Given the description of an element on the screen output the (x, y) to click on. 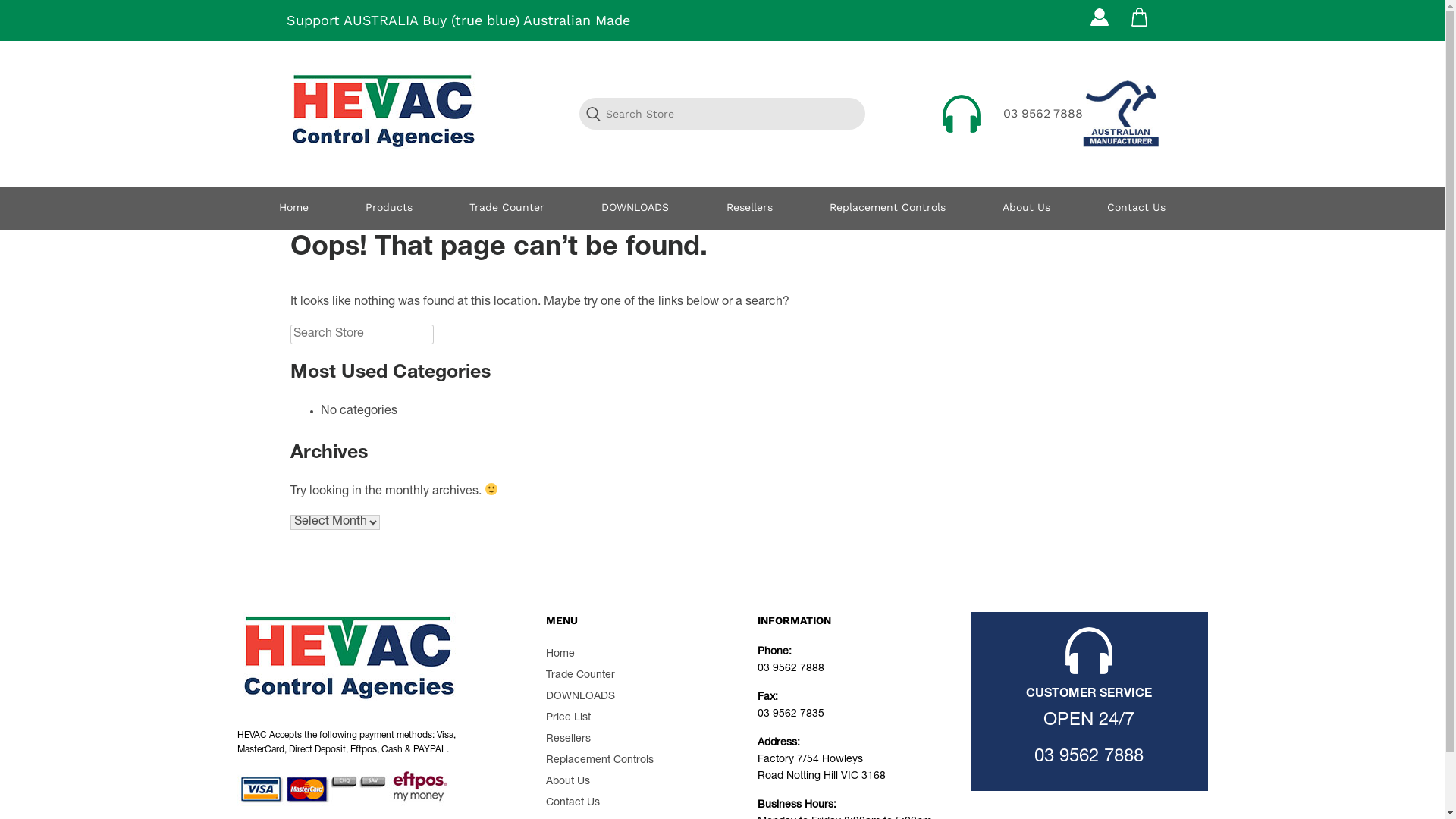
Trade Counter Element type: text (580, 675)
Trade Counter Element type: text (506, 207)
Contact Us Element type: text (1136, 207)
About Us Element type: text (567, 781)
DOWNLOADS Element type: text (580, 696)
DOWNLOADS Element type: text (634, 207)
About Us Element type: text (1026, 207)
Home Element type: text (560, 654)
Products Element type: text (388, 207)
Replacement Controls Element type: text (887, 207)
Home Element type: text (293, 207)
Replacement Controls Element type: text (599, 760)
03 9562 7888 Element type: text (1042, 113)
Price List Element type: text (568, 717)
Resellers Element type: text (749, 207)
Contact Us Element type: text (572, 802)
Resellers Element type: text (568, 739)
03 9562 7888 Element type: text (1088, 757)
